Given the description of an element on the screen output the (x, y) to click on. 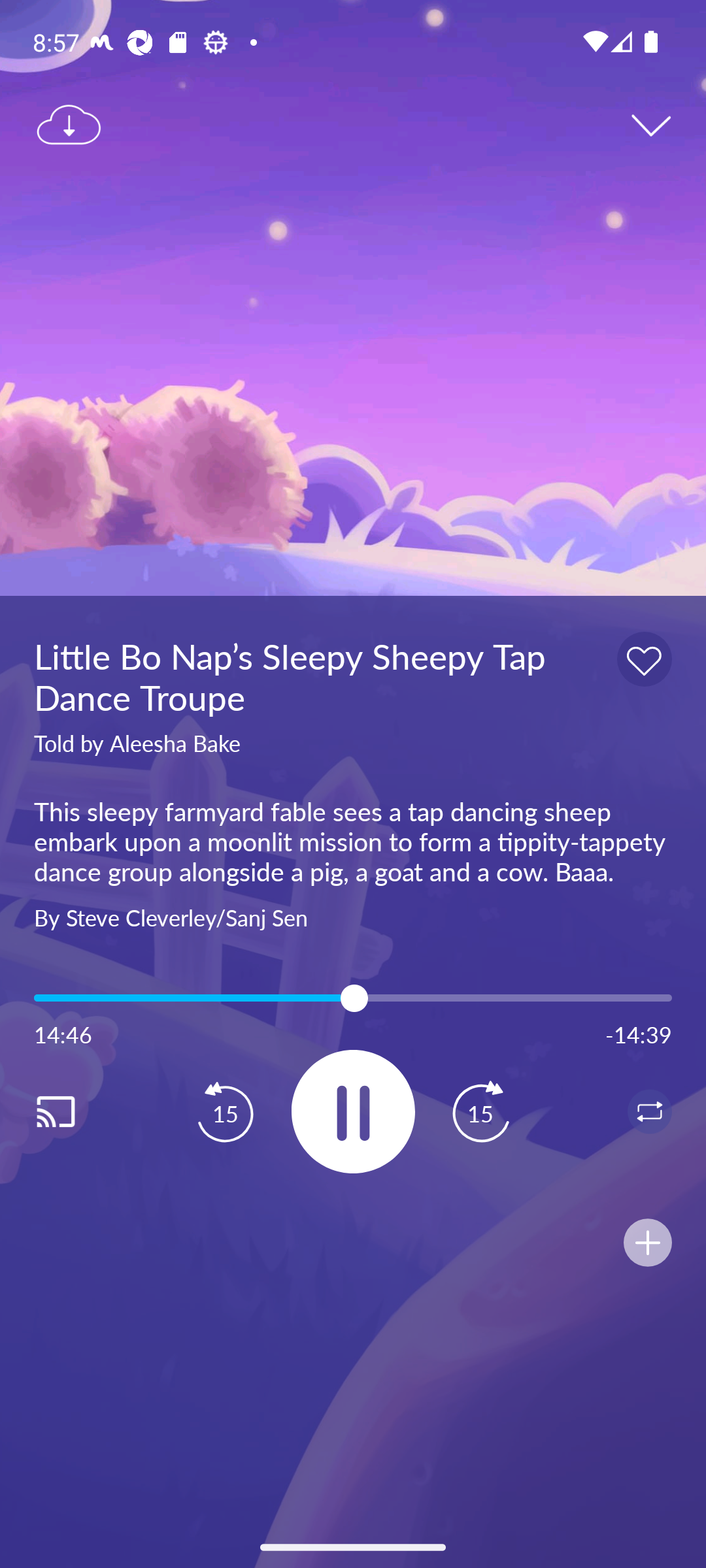
886.0 (352, 997)
Cast. Disconnected (76, 1111)
